Given the description of an element on the screen output the (x, y) to click on. 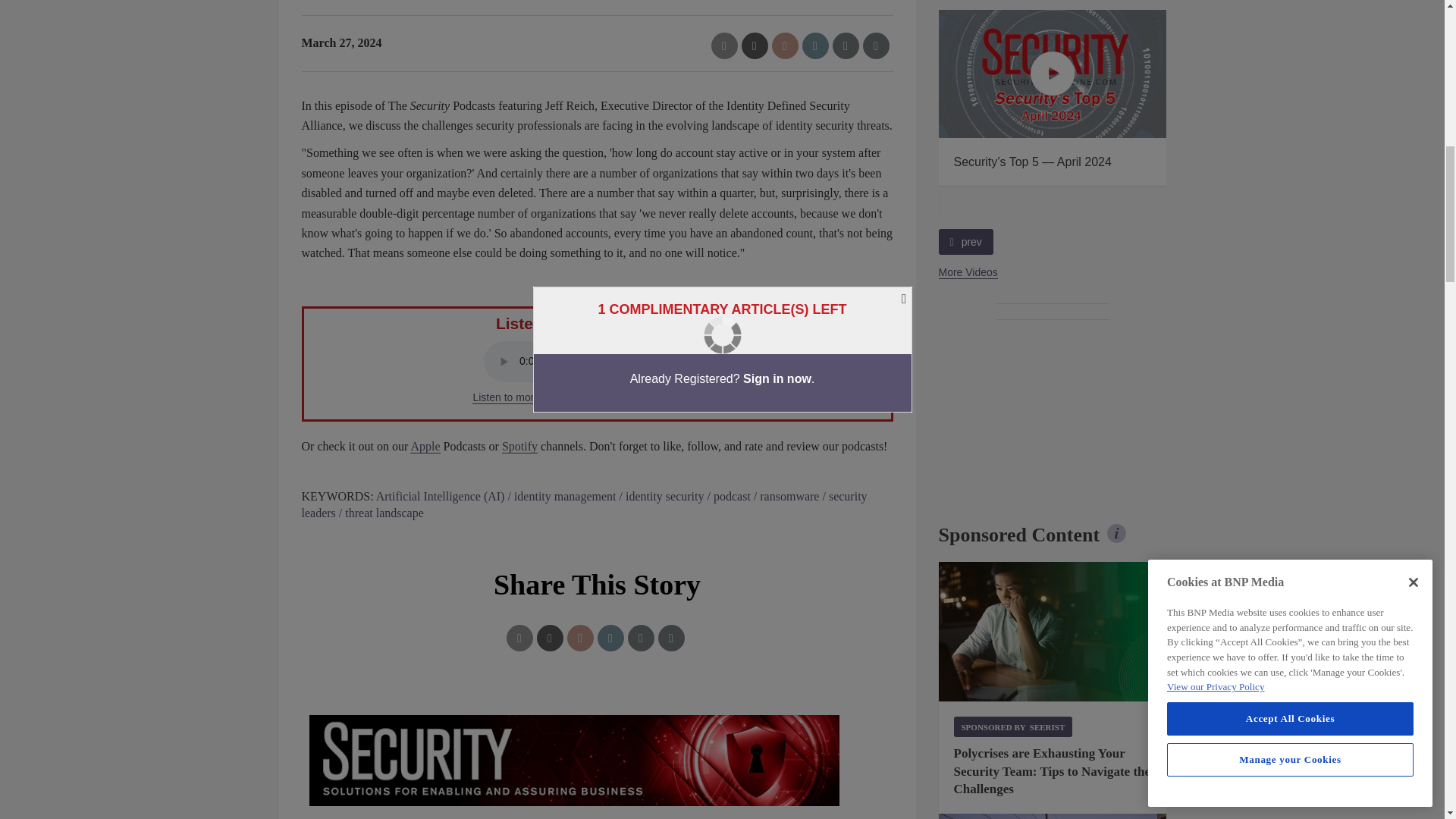
Threat management (1052, 631)
AMAROK Security Gate (1052, 816)
Sponsored by Seerist (1013, 726)
Interaction questions (597, 759)
